Given the description of an element on the screen output the (x, y) to click on. 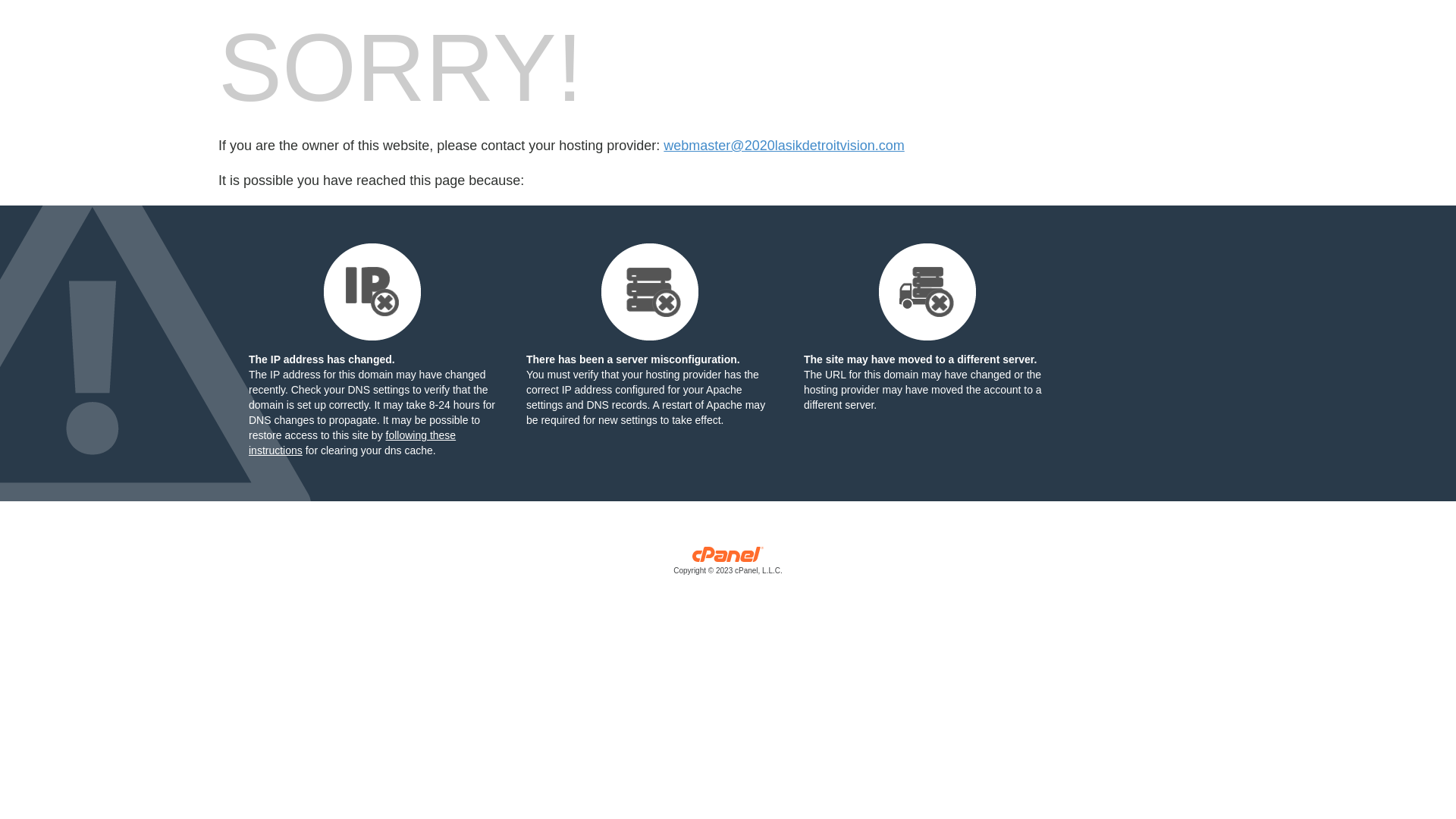
webmaster@2020lasikdetroitvision.com Element type: text (783, 145)
following these instructions Element type: text (351, 442)
